Given the description of an element on the screen output the (x, y) to click on. 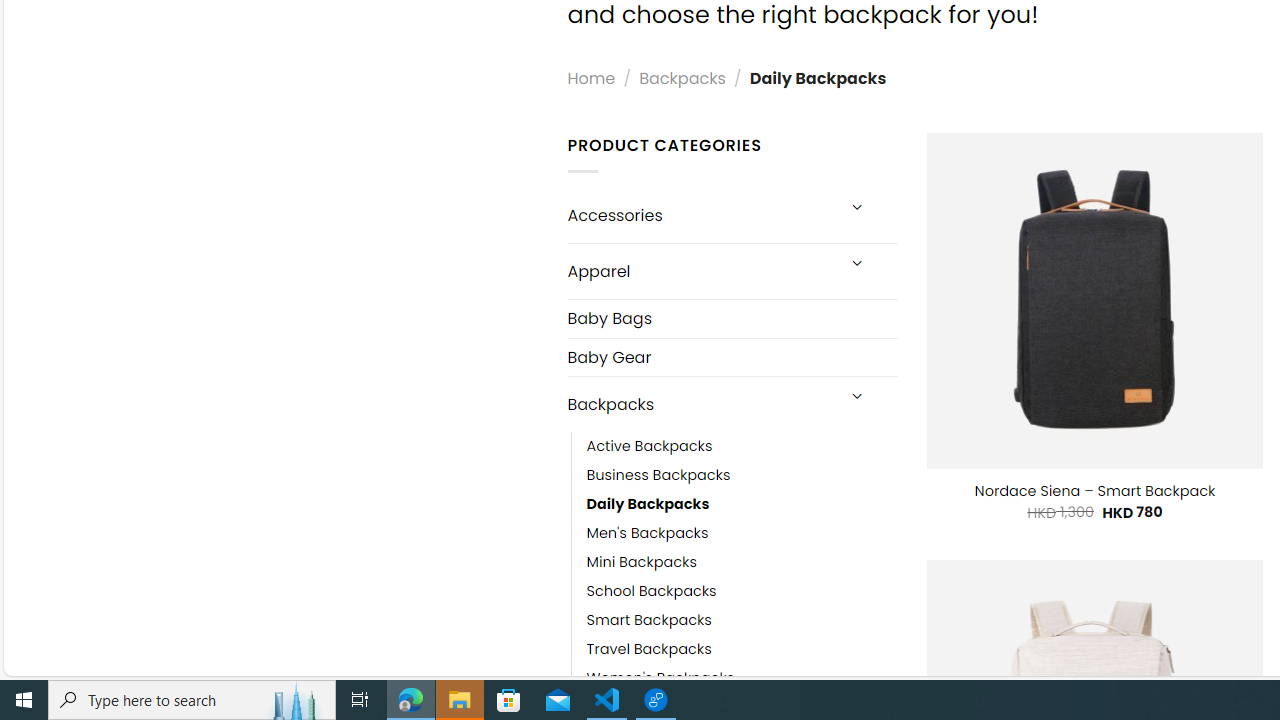
Business Backpacks (742, 475)
School Backpacks (742, 591)
Active Backpacks (649, 447)
Travel Backpacks (742, 650)
Travel Backpacks (648, 650)
Accessories (700, 215)
Men's Backpacks (647, 533)
Men's Backpacks (742, 533)
Women's Backpacks (660, 678)
Apparel (700, 270)
Women's Backpacks (742, 678)
